Given the description of an element on the screen output the (x, y) to click on. 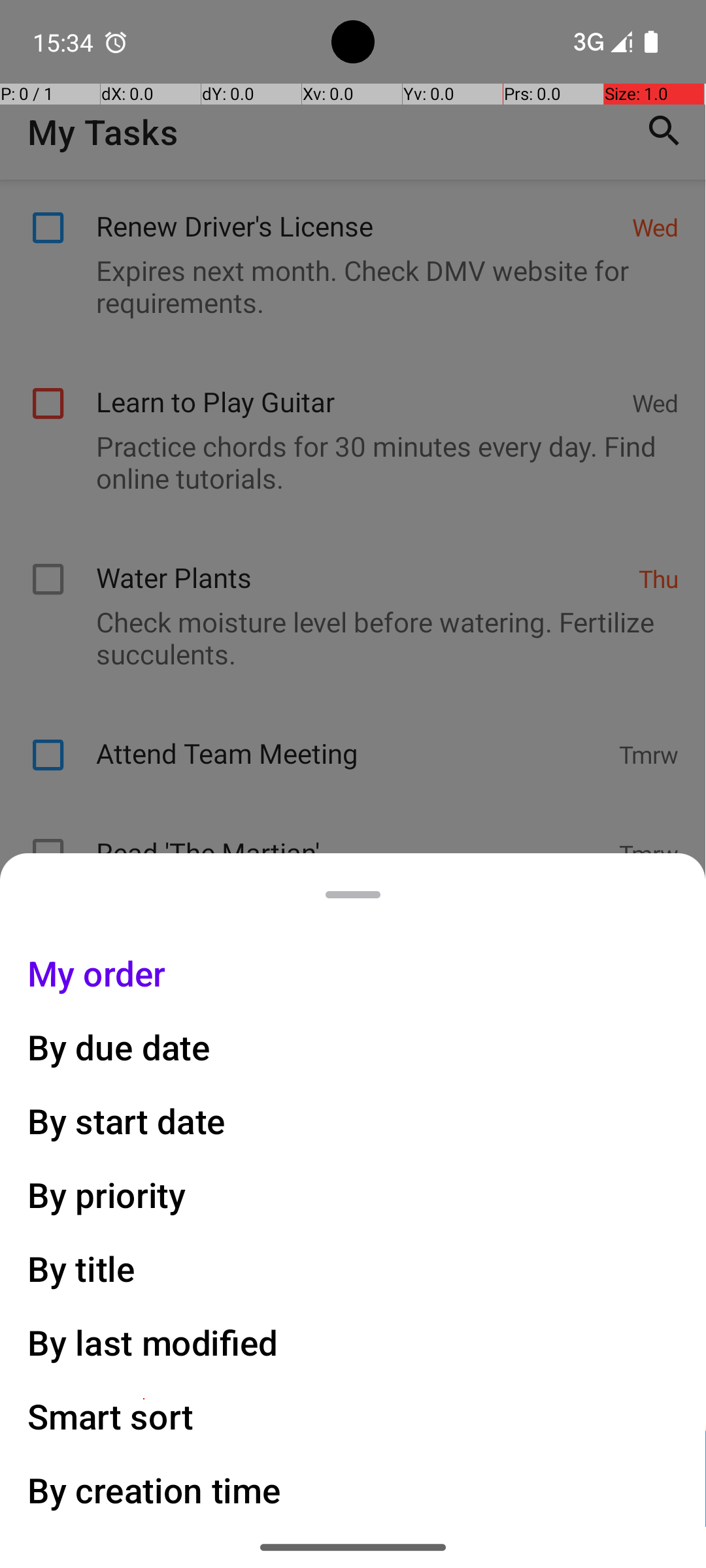
By creation time Element type: android.widget.TextView (154, 1489)
